Given the description of an element on the screen output the (x, y) to click on. 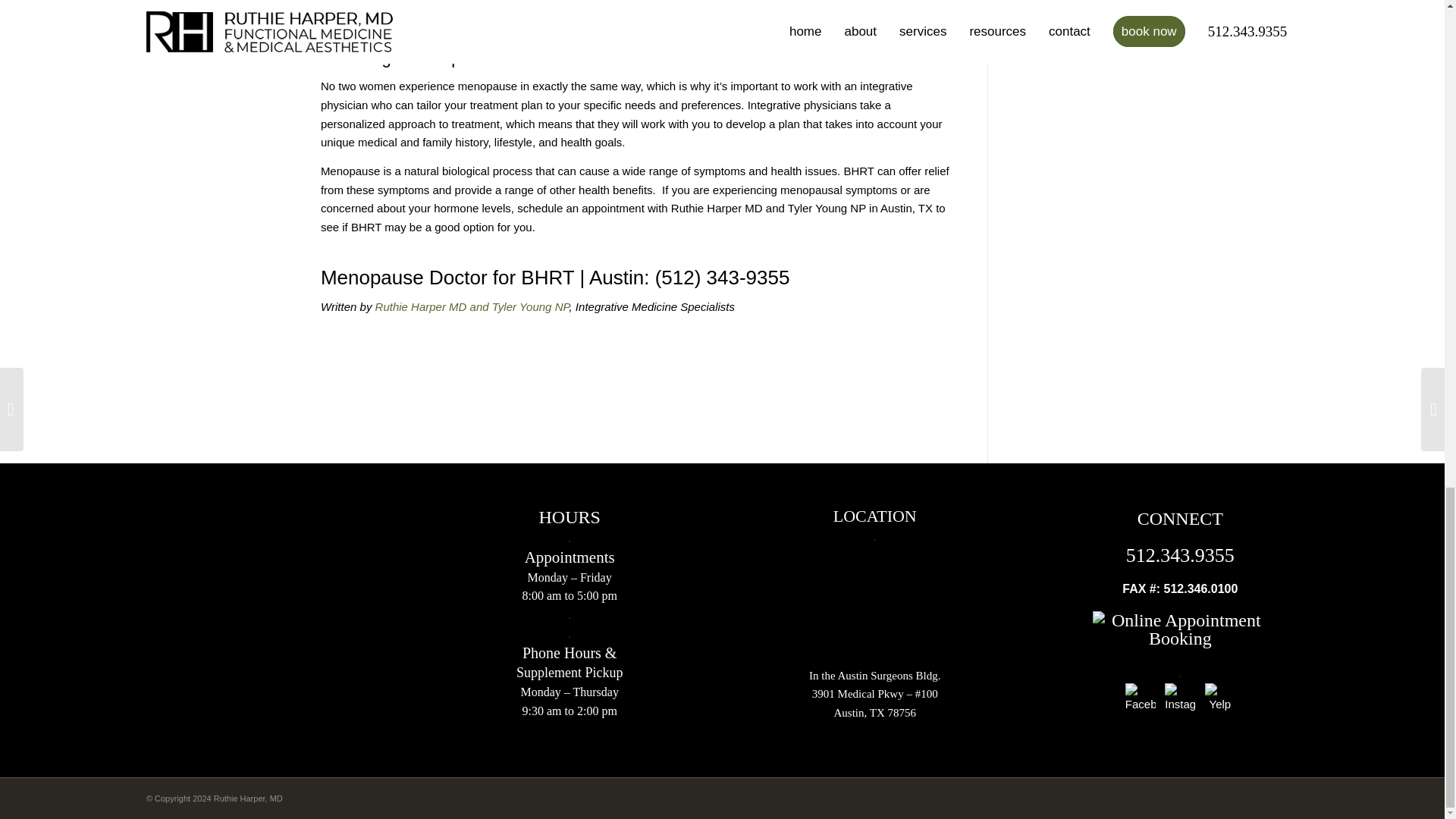
Facebook (1140, 703)
Instagram (1179, 703)
Yelp (1219, 703)
